Given the description of an element on the screen output the (x, y) to click on. 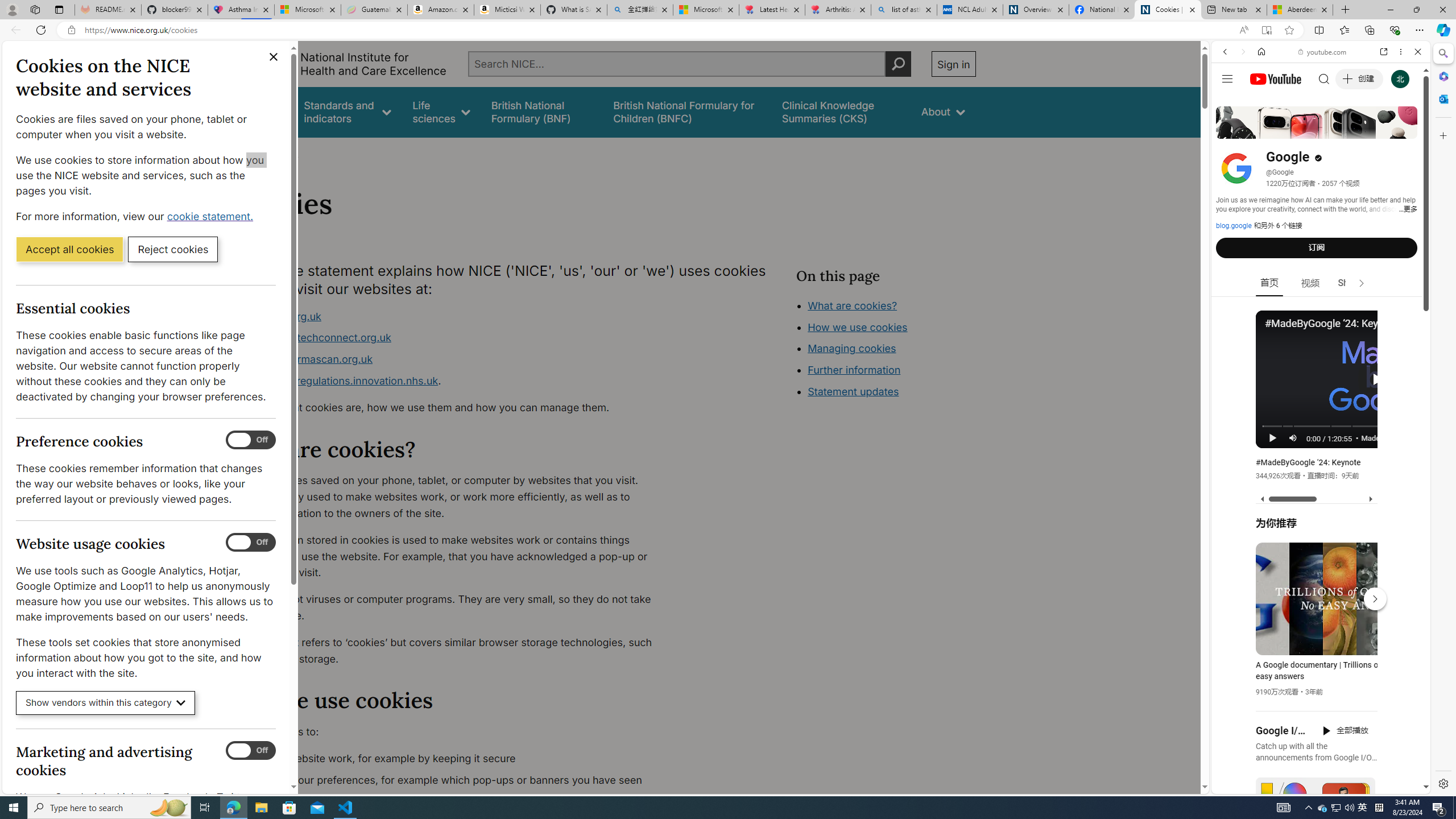
More options (1401, 51)
#you (1320, 253)
Music (1320, 309)
Arthritis: Ask Health Professionals (838, 9)
IMAGES (1262, 130)
Home (1261, 51)
Life sciences (440, 111)
WEB   (1230, 130)
Reject cookies (173, 248)
This site scope (1259, 102)
